Given the description of an element on the screen output the (x, y) to click on. 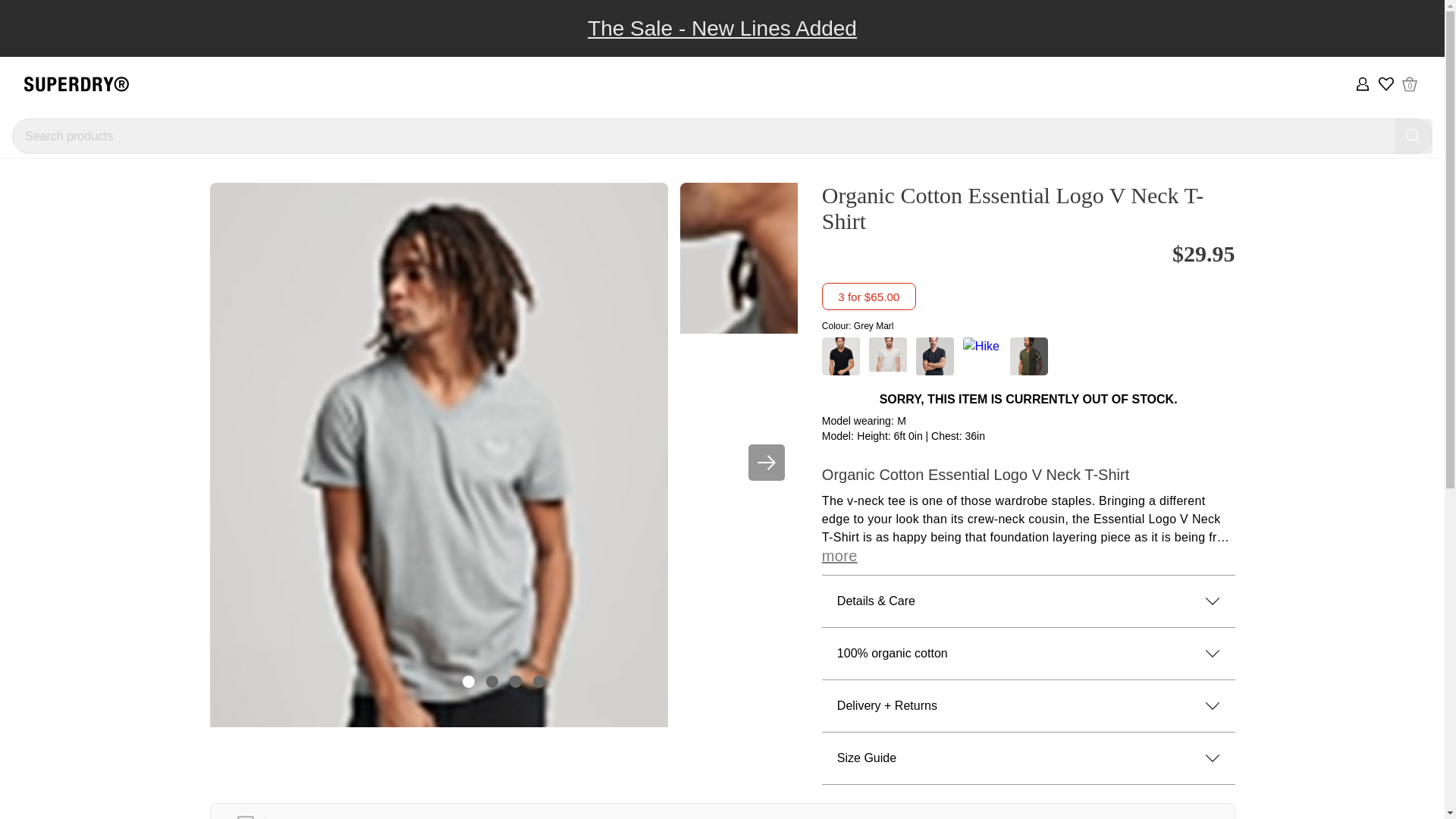
Wish List (1385, 83)
My Account (1362, 83)
ChevronDown (1212, 705)
ArrowRight (766, 462)
Reset (1413, 135)
Next (767, 462)
ChevronDown (1212, 653)
My Account (1362, 83)
Superdry Logo - Back to Home (77, 84)
more (839, 556)
Reset (1413, 135)
Search (1409, 83)
ChevronDown (1413, 136)
Next (1212, 601)
